Given the description of an element on the screen output the (x, y) to click on. 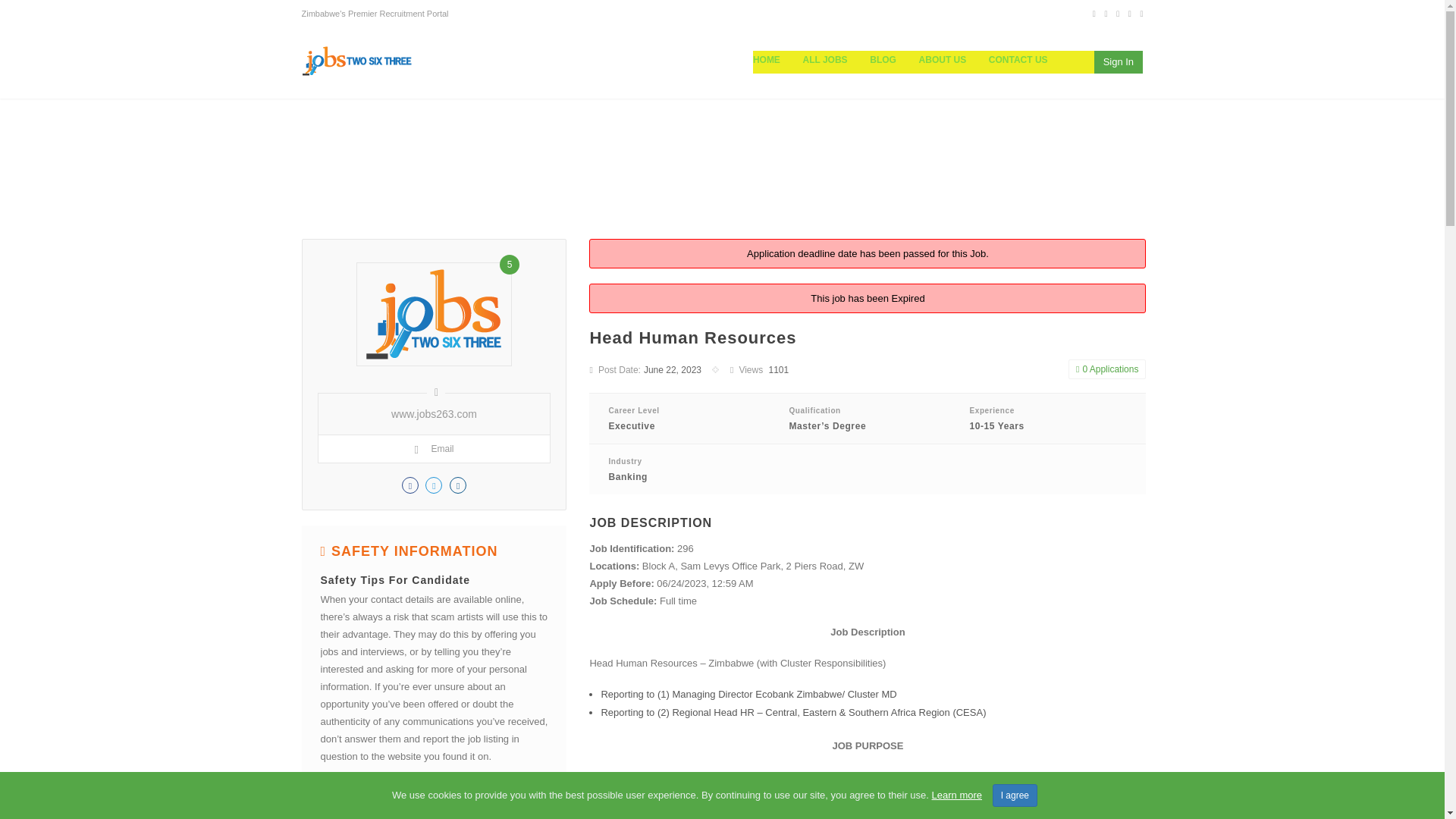
ALL JOBS (825, 60)
2 (335, 805)
5 (368, 805)
CONTACT US (1017, 60)
www.jobs263.com (434, 413)
0 Applications (1106, 369)
3 (346, 805)
6 (381, 805)
4 (358, 805)
BLOG (883, 60)
Email (432, 448)
ABOUT US (942, 60)
1 (323, 805)
HOME (772, 60)
Sign In (1118, 61)
